Given the description of an element on the screen output the (x, y) to click on. 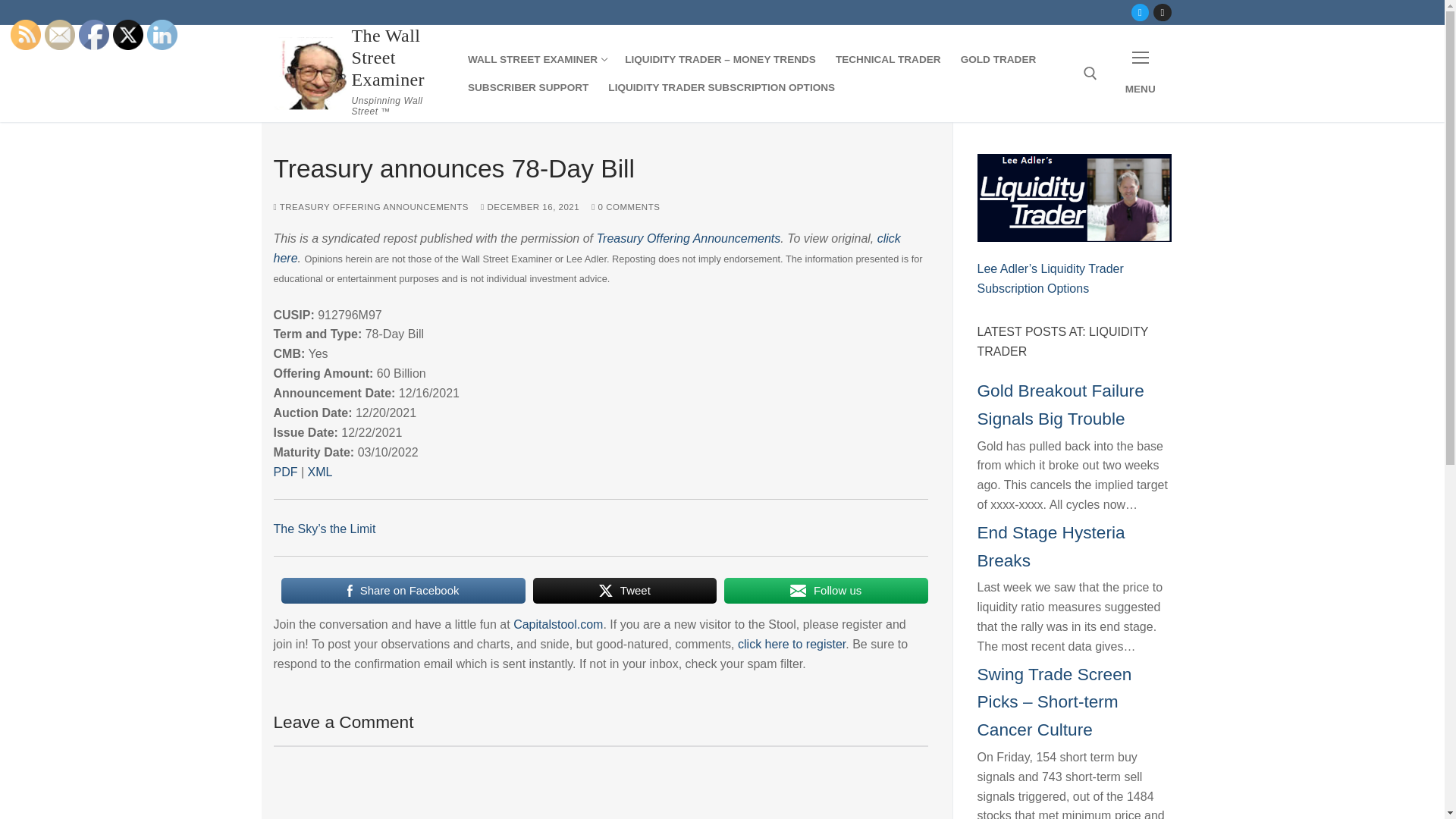
Reports for subscribers (719, 59)
Follow us (825, 590)
The Wall Street Examiner (398, 58)
click here to register (791, 644)
Updates for subscribers (998, 59)
Market Update Reports for subscribers (887, 59)
Instagram (1162, 12)
SUBSCRIBER SUPPORT (528, 87)
Home Page (536, 59)
Twitter (1139, 12)
XML (320, 472)
LIQUIDITY TRADER SUBSCRIPTION OPTIONS (721, 87)
Comment Form (536, 59)
TREASURY OFFERING ANNOUNCEMENTS (600, 782)
